Given the description of an element on the screen output the (x, y) to click on. 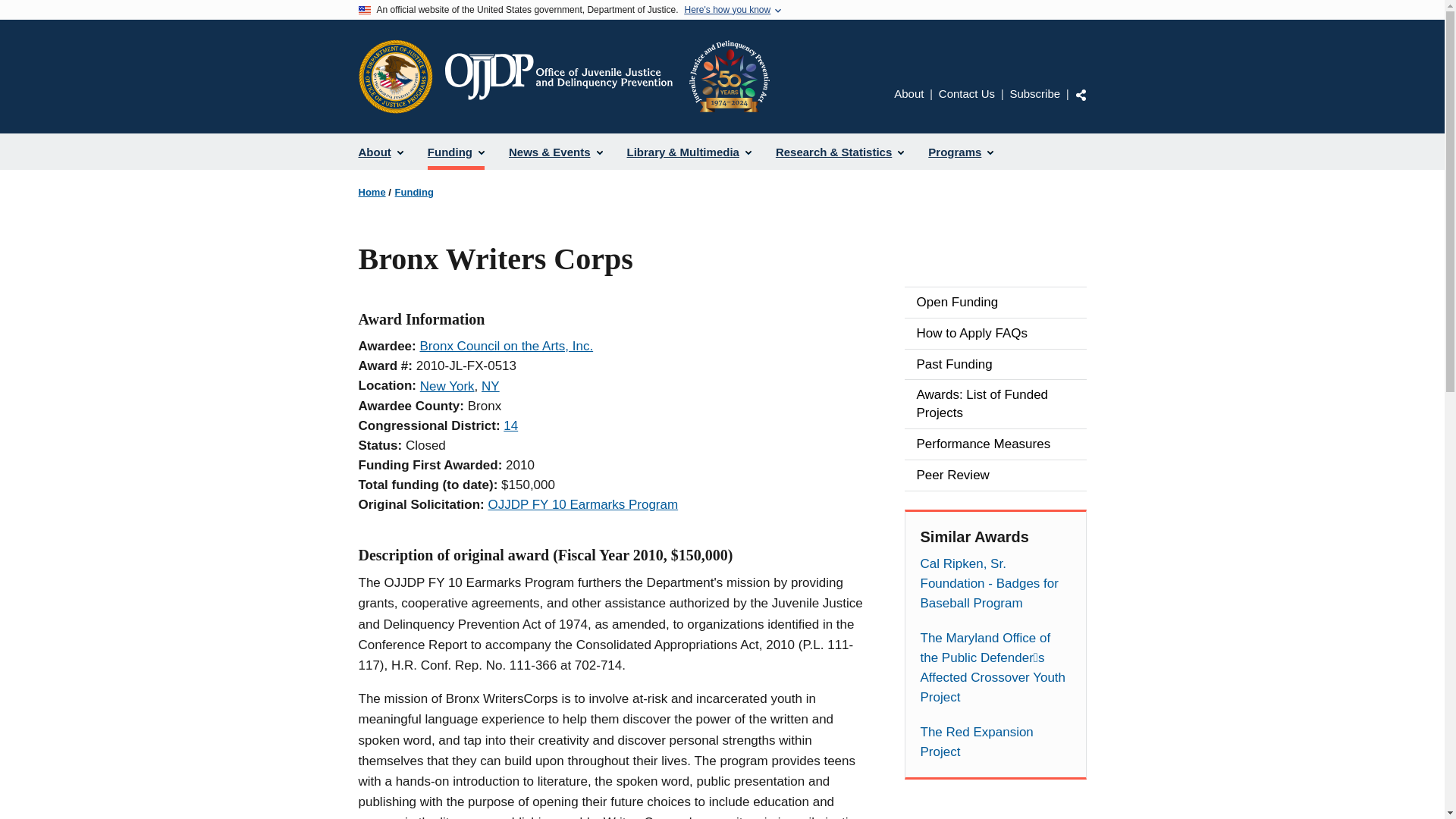
Cal Ripken, Sr. Foundation - Badges for Baseball Program (995, 583)
The Red Expansion Project (995, 742)
OJJDP FY 10 Earmarks Program (582, 504)
Funding (455, 151)
NY (490, 386)
Peer Review (995, 475)
Cal Ripken, Sr. Foundation - Badges for Baseball Program (995, 583)
Office of Justice Programs (395, 76)
Choose a social sharing platform (1080, 94)
About (908, 93)
